Given the description of an element on the screen output the (x, y) to click on. 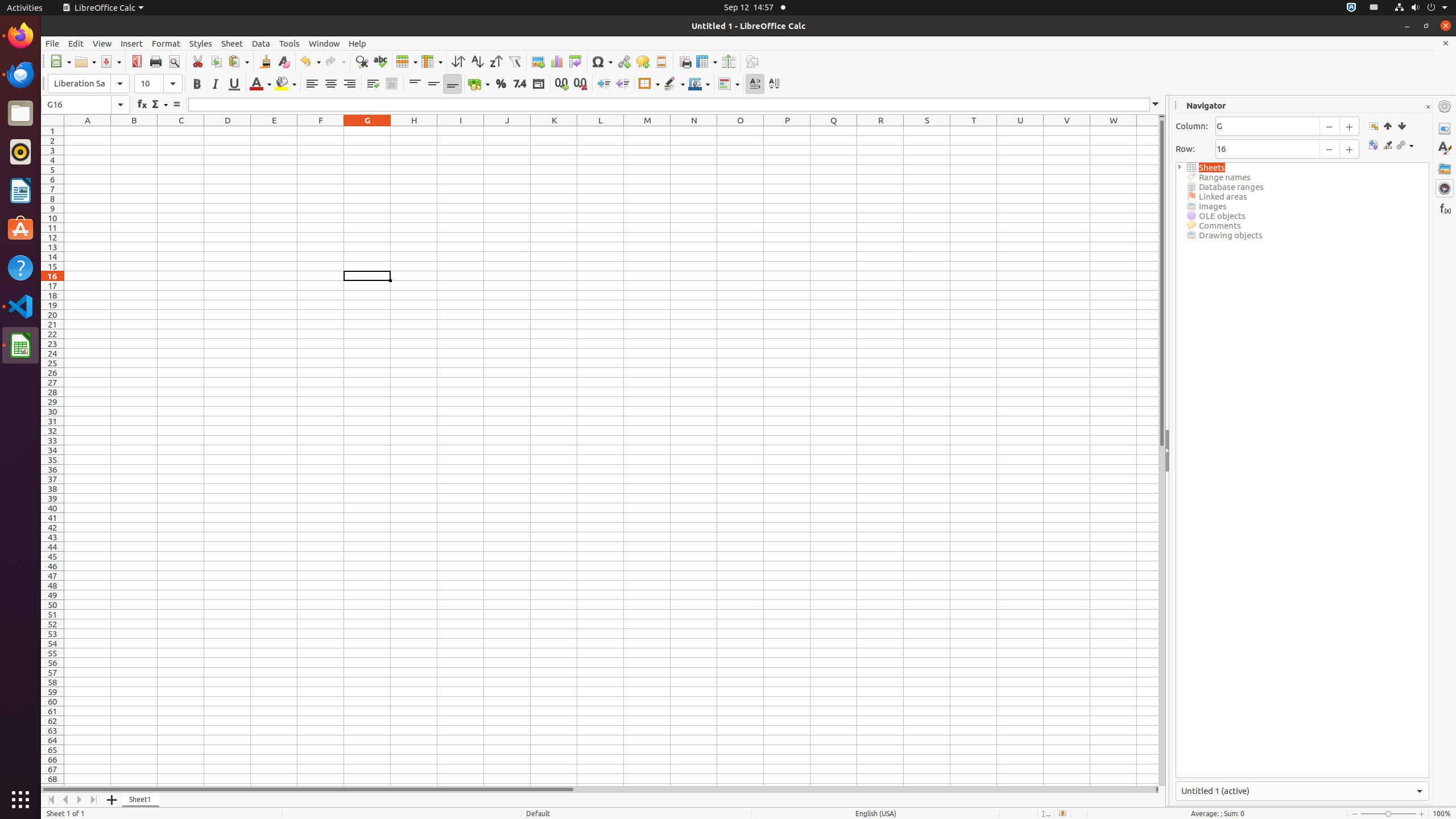
Clear Element type: push-button (283, 61)
Move Right Element type: push-button (79, 799)
O1 Element type: table-cell (740, 130)
Wrap Text Element type: push-button (372, 83)
Undo Element type: push-button (309, 61)
